Given the description of an element on the screen output the (x, y) to click on. 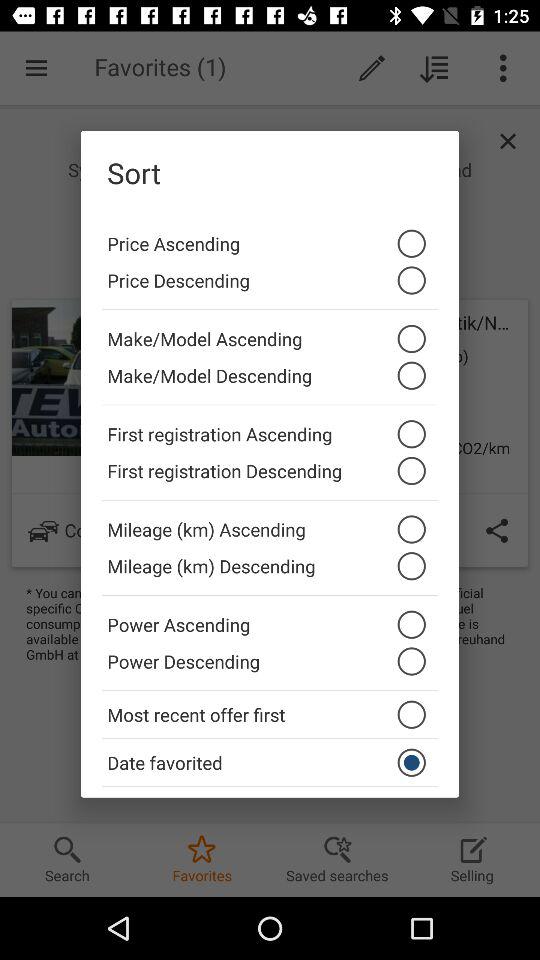
jump until the price descending (269, 285)
